Given the description of an element on the screen output the (x, y) to click on. 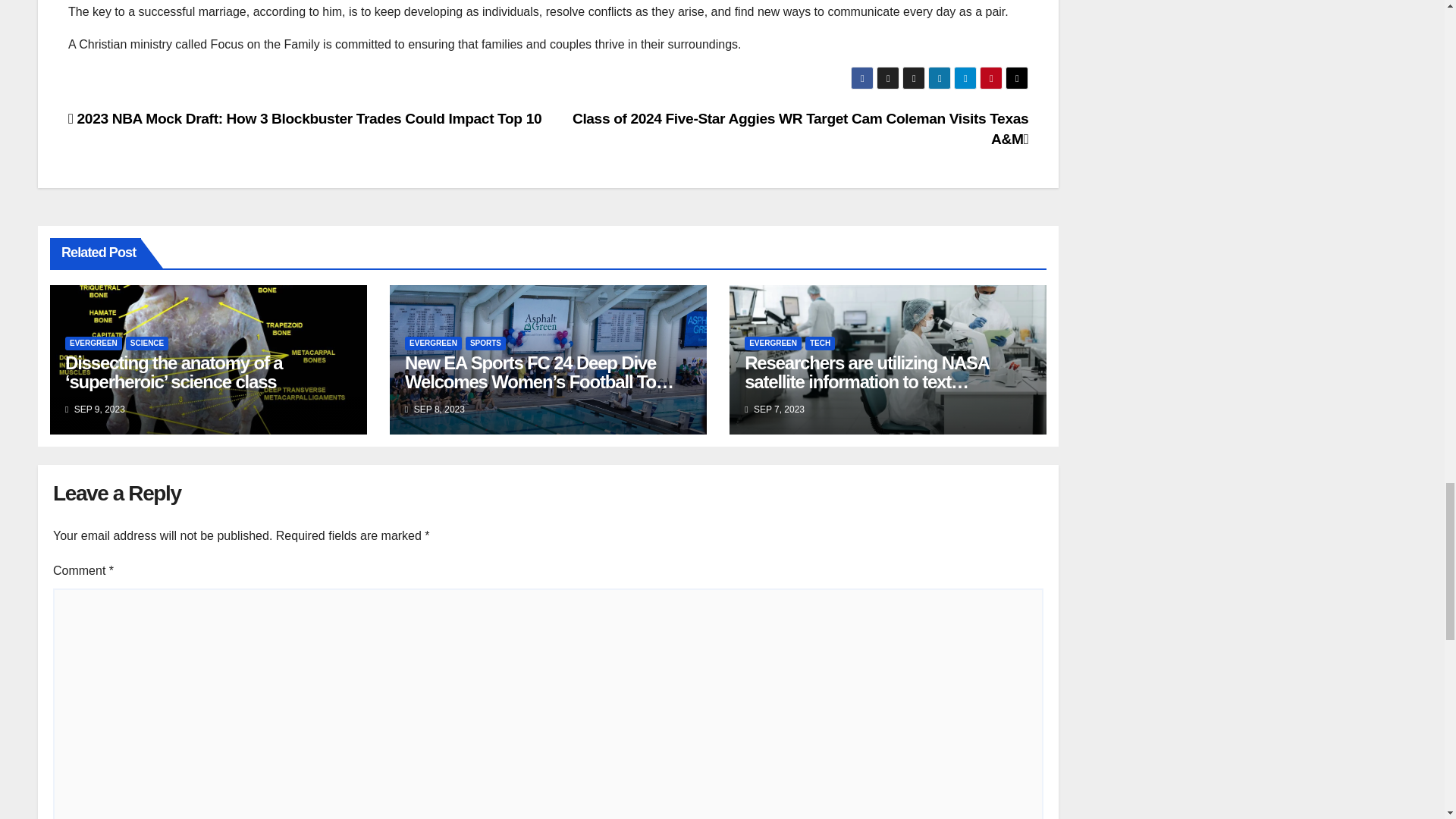
EVERGREEN (93, 343)
SCIENCE (146, 343)
